Given the description of an element on the screen output the (x, y) to click on. 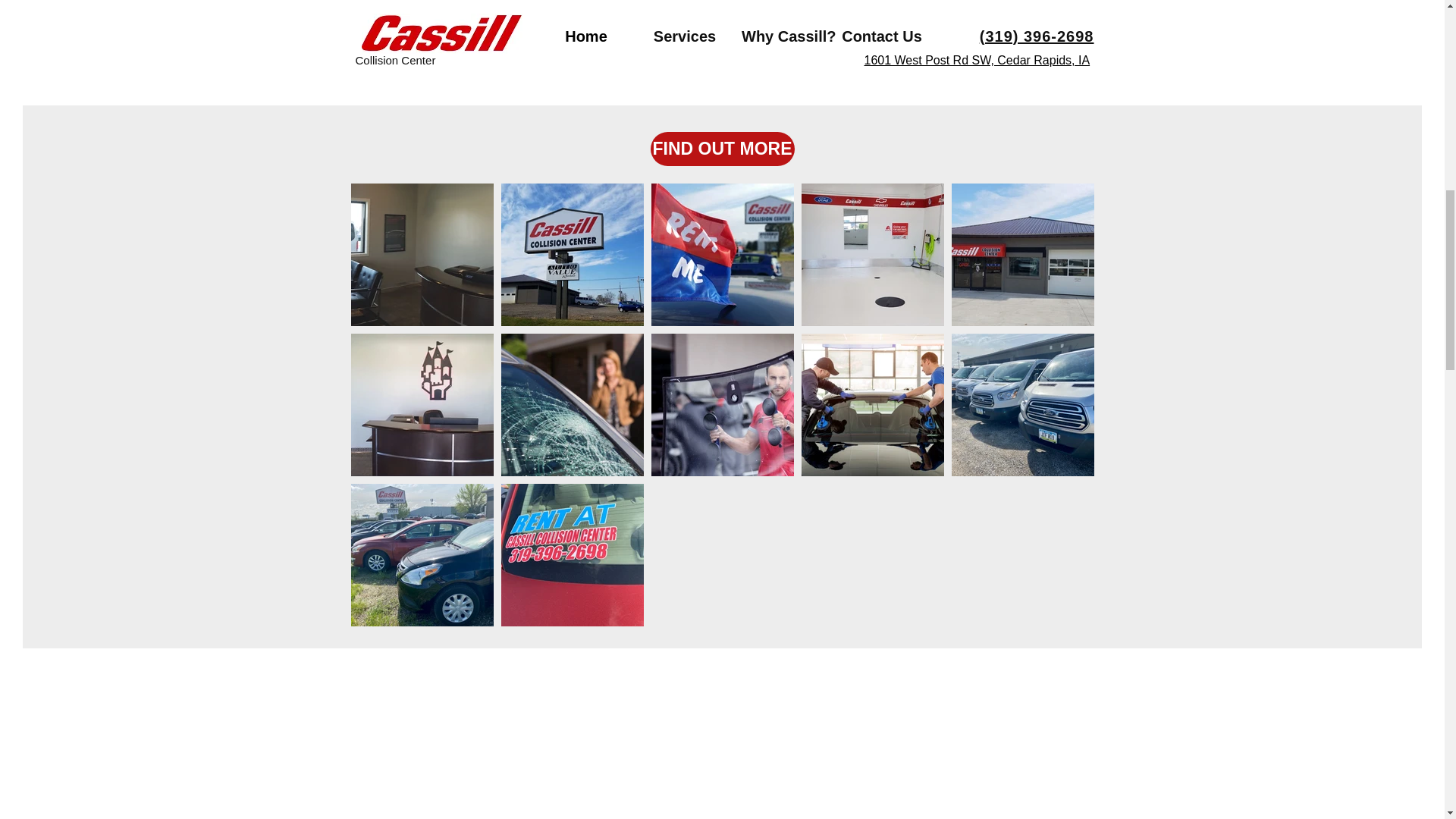
FIND OUT MORE (722, 148)
